Given the description of an element on the screen output the (x, y) to click on. 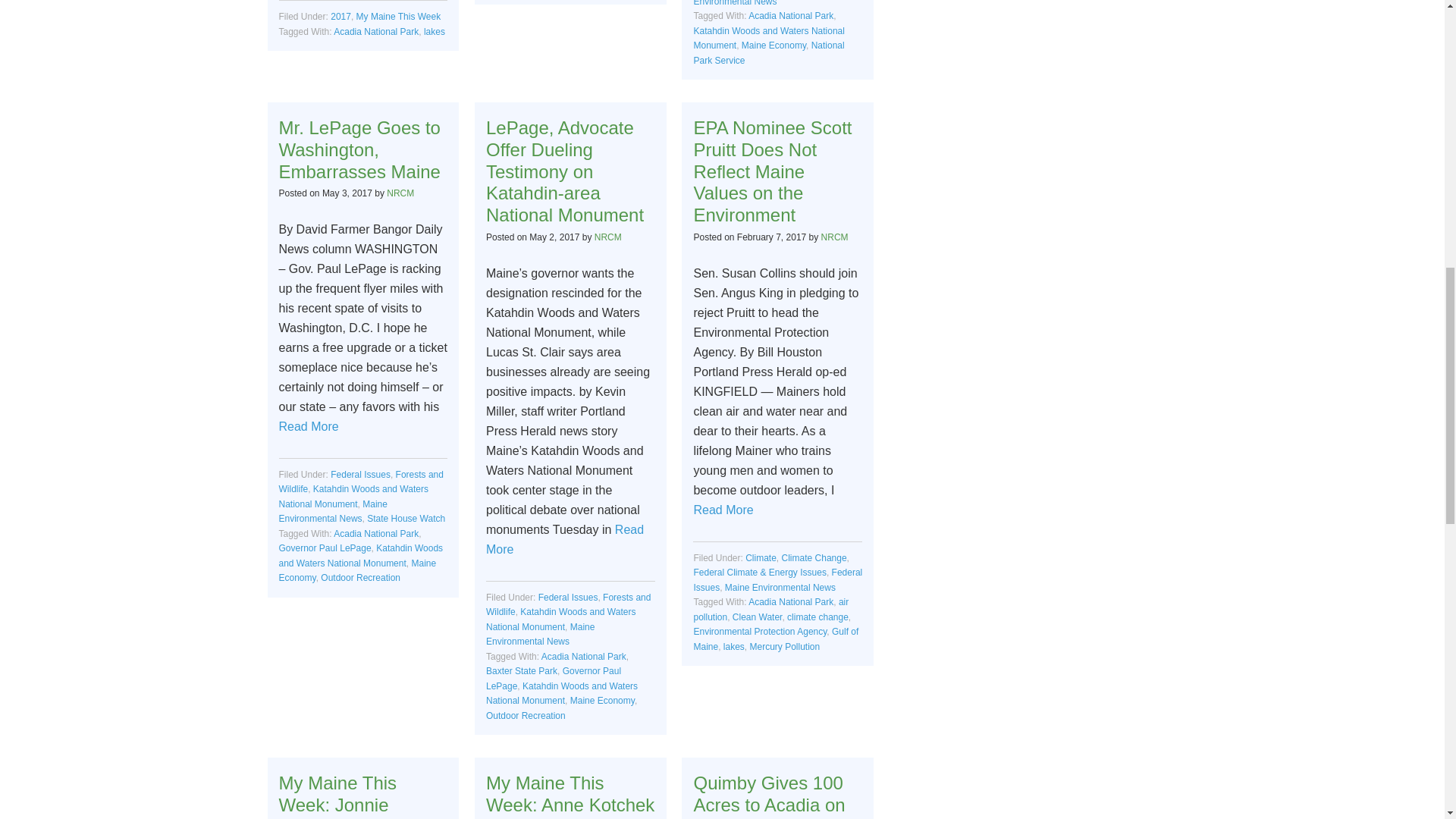
Read More (309, 426)
Read More (722, 509)
Read More (564, 539)
